Given the description of an element on the screen output the (x, y) to click on. 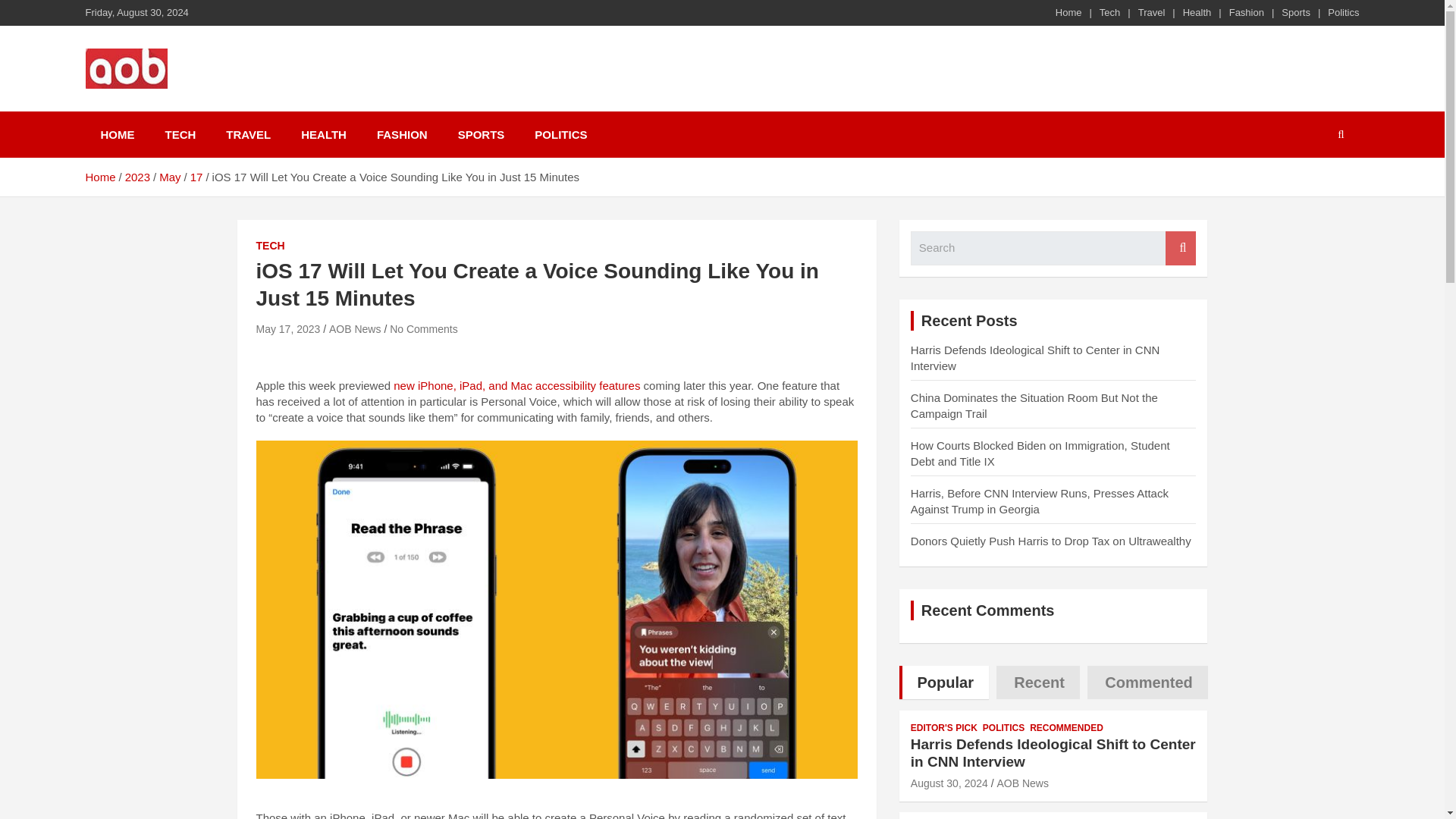
May 17, 2023 (288, 328)
No Comments (423, 328)
HOME (116, 134)
Home (1068, 12)
TECH (270, 246)
Fashion (1245, 12)
Harris Defends Ideological Shift to Center in CNN Interview (1034, 357)
TRAVEL (248, 134)
Health (1196, 12)
AOB News (354, 328)
